Given the description of an element on the screen output the (x, y) to click on. 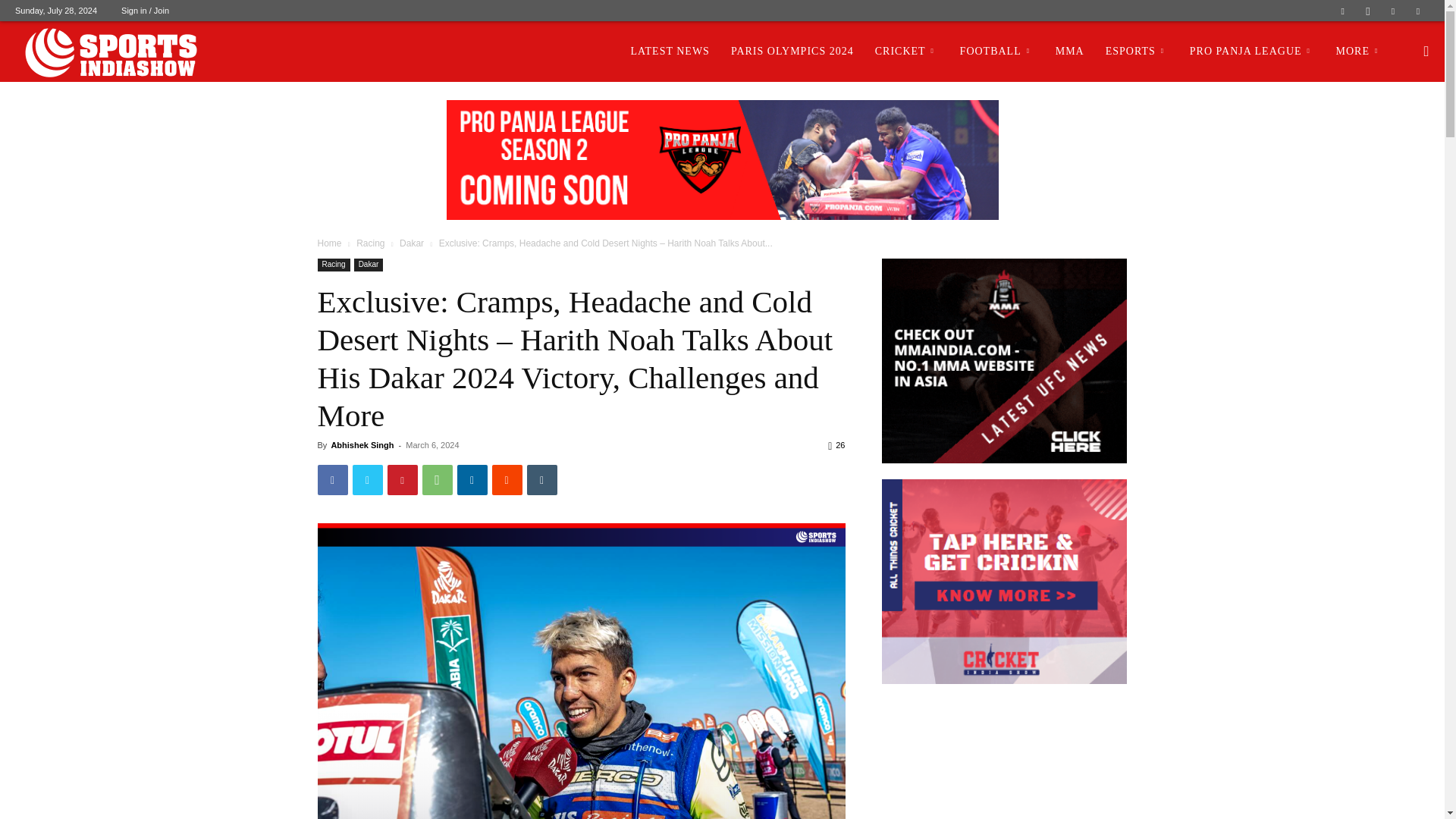
Twitter (1393, 10)
Youtube (1417, 10)
Facebook (1343, 10)
Instagram (1367, 10)
